Given the description of an element on the screen output the (x, y) to click on. 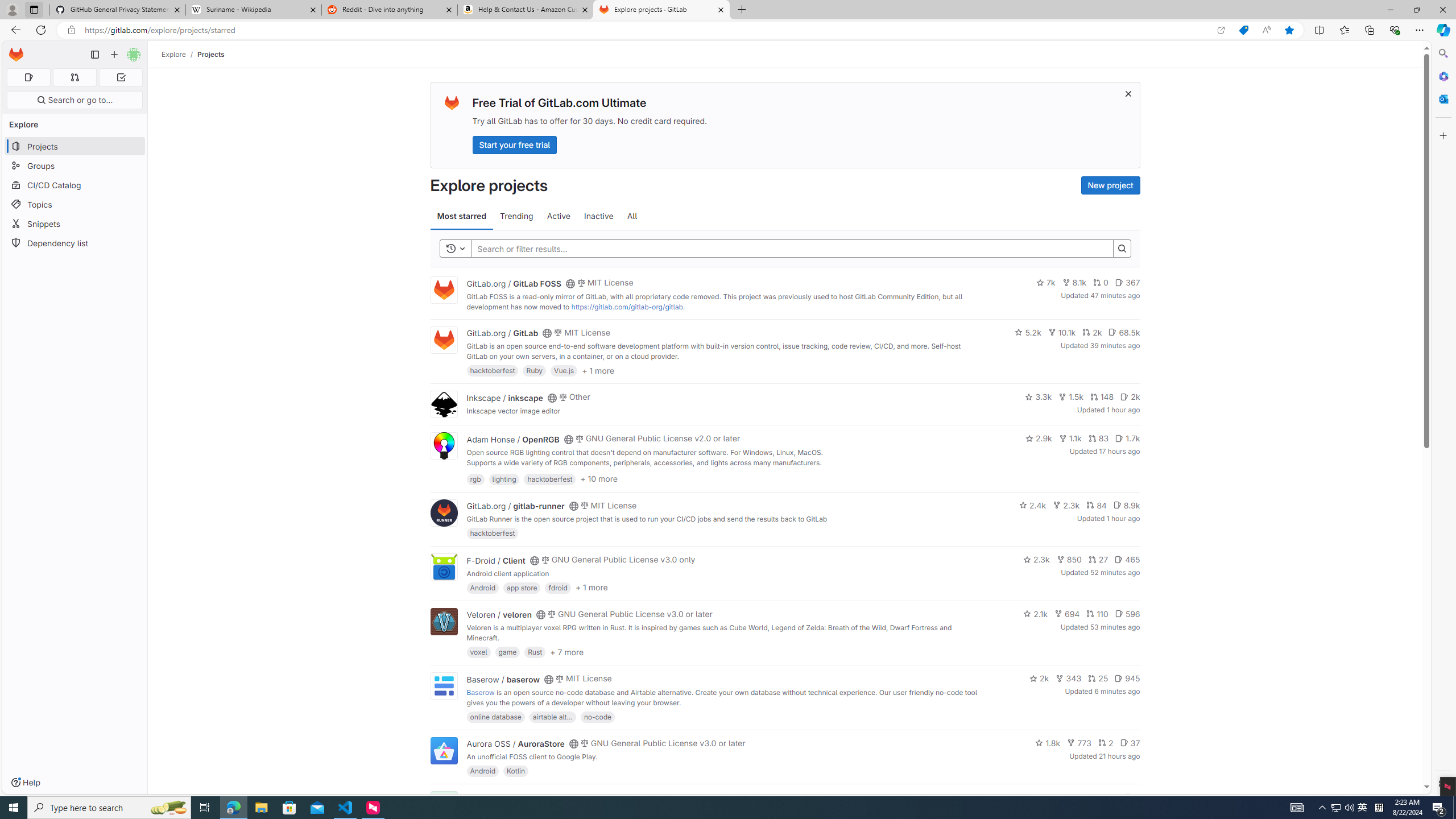
367 (1127, 282)
6 (1132, 797)
fdroid (558, 587)
GitLab.org / GitLab (501, 333)
25 (1097, 678)
Edouard Klein / falsisign (512, 797)
Help & Contact Us - Amazon Customer Service (525, 9)
0 (1100, 282)
Snippets (74, 223)
Trending (516, 216)
https://openrgb.org (563, 472)
Dependency list (74, 242)
